Given the description of an element on the screen output the (x, y) to click on. 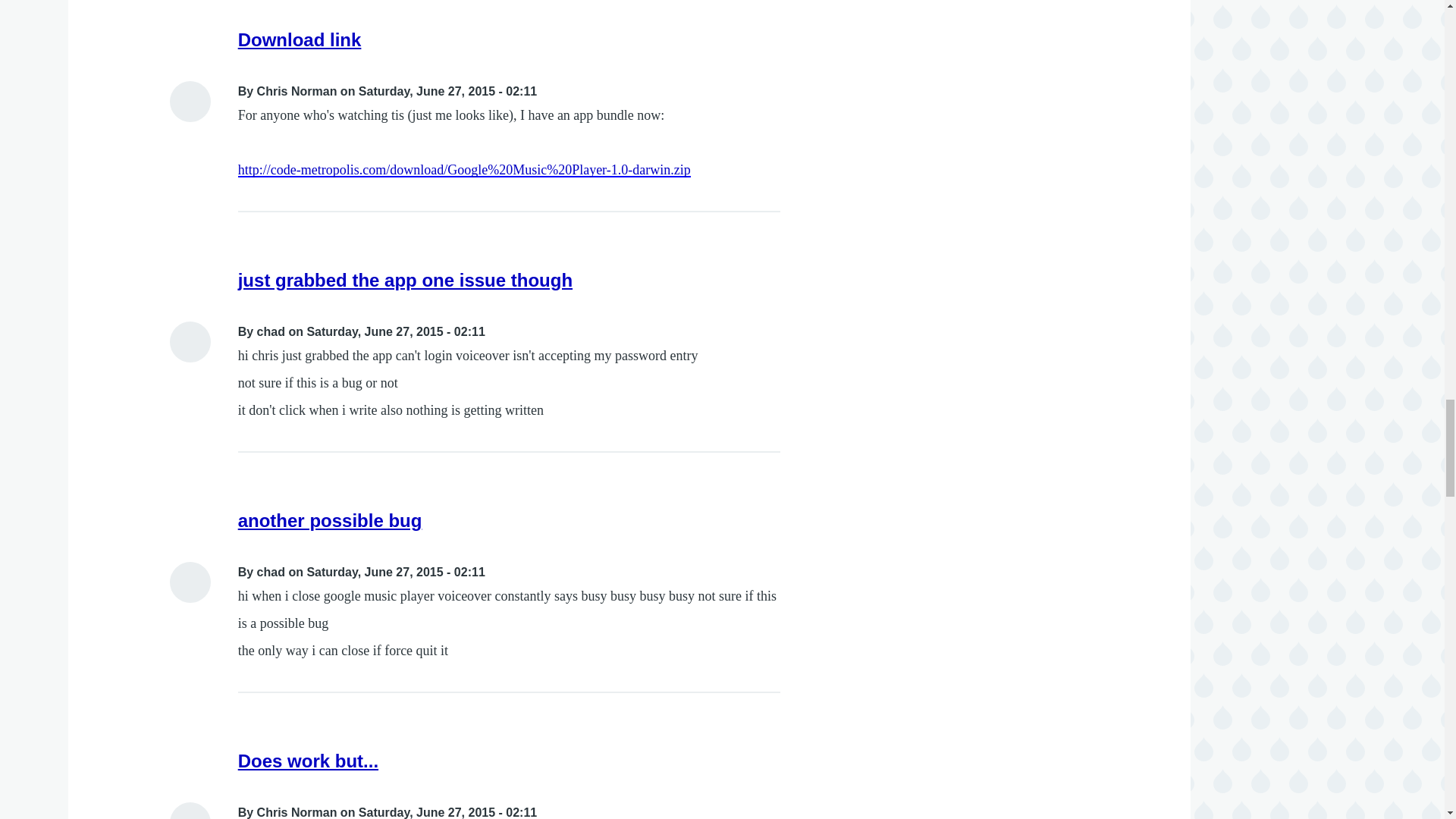
just grabbed the app one issue though (405, 280)
Download link (299, 39)
Does work but... (308, 761)
another possible bug (330, 520)
